Given the description of an element on the screen output the (x, y) to click on. 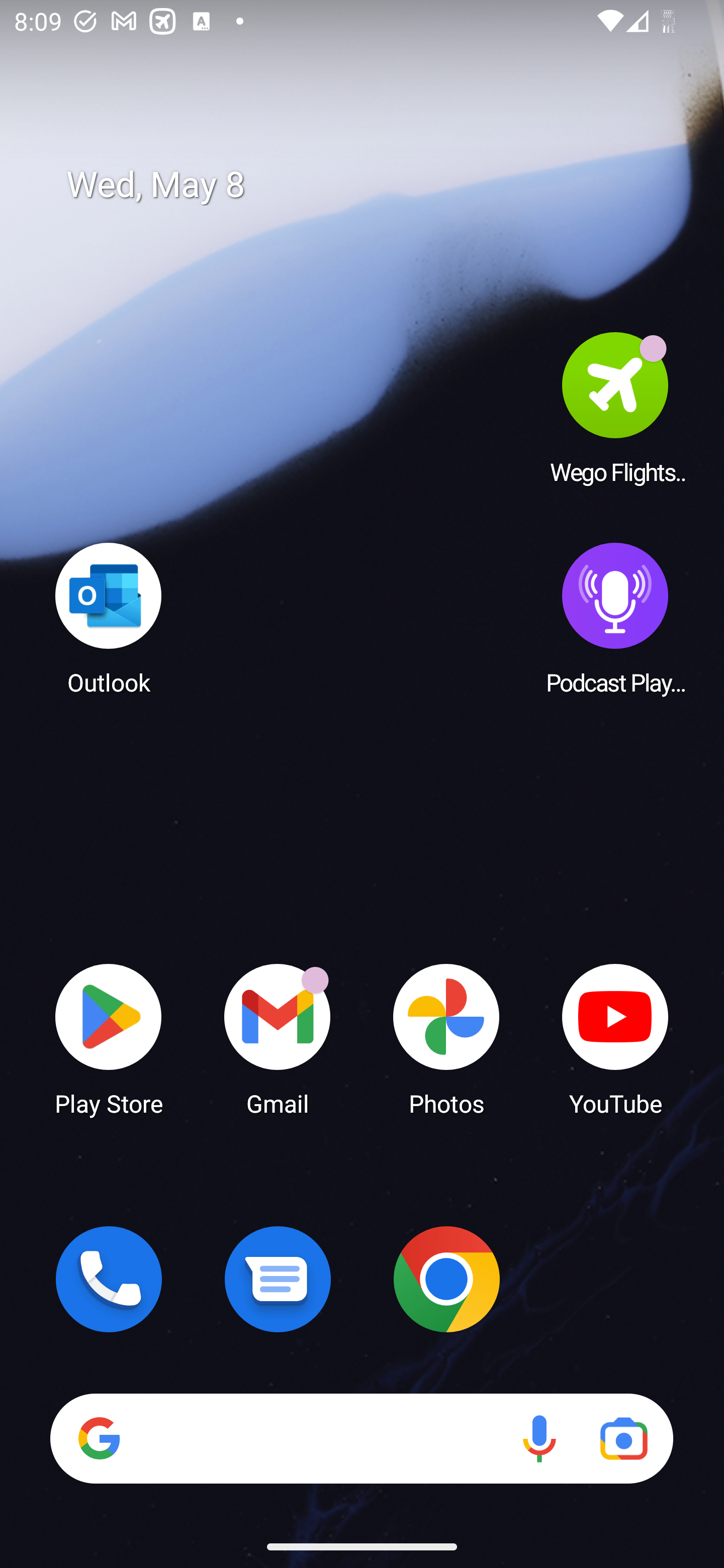
Wed, May 8 (375, 184)
Outlook (108, 617)
Podcast Player (615, 617)
Play Store (108, 1038)
Gmail Gmail has 17 notifications (277, 1038)
Photos (445, 1038)
YouTube (615, 1038)
Phone (108, 1279)
Messages (277, 1279)
Chrome (446, 1279)
Search Voice search Google Lens (361, 1438)
Voice search (539, 1438)
Google Lens (623, 1438)
